Given the description of an element on the screen output the (x, y) to click on. 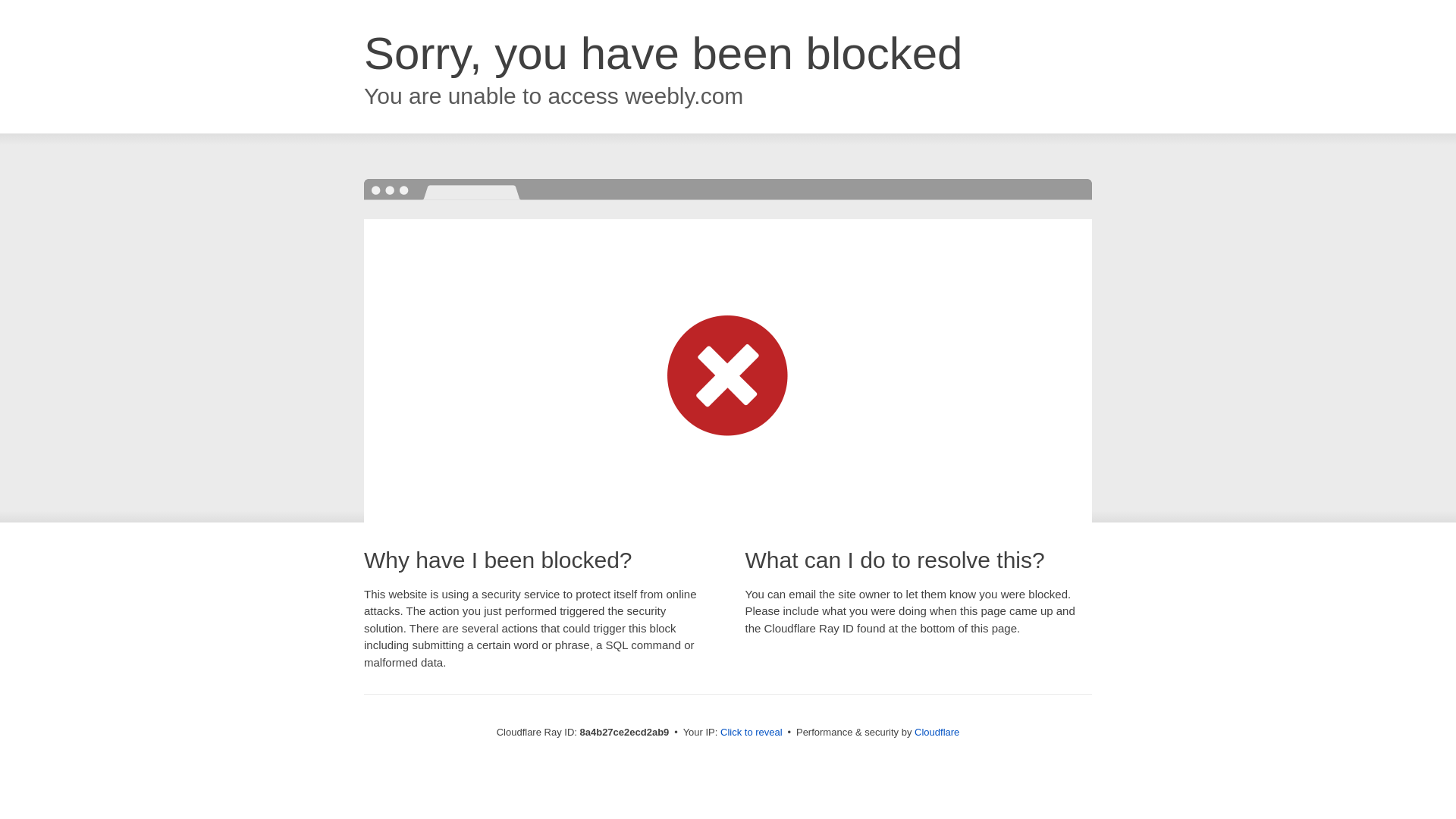
Cloudflare (936, 731)
Click to reveal (751, 732)
